Given the description of an element on the screen output the (x, y) to click on. 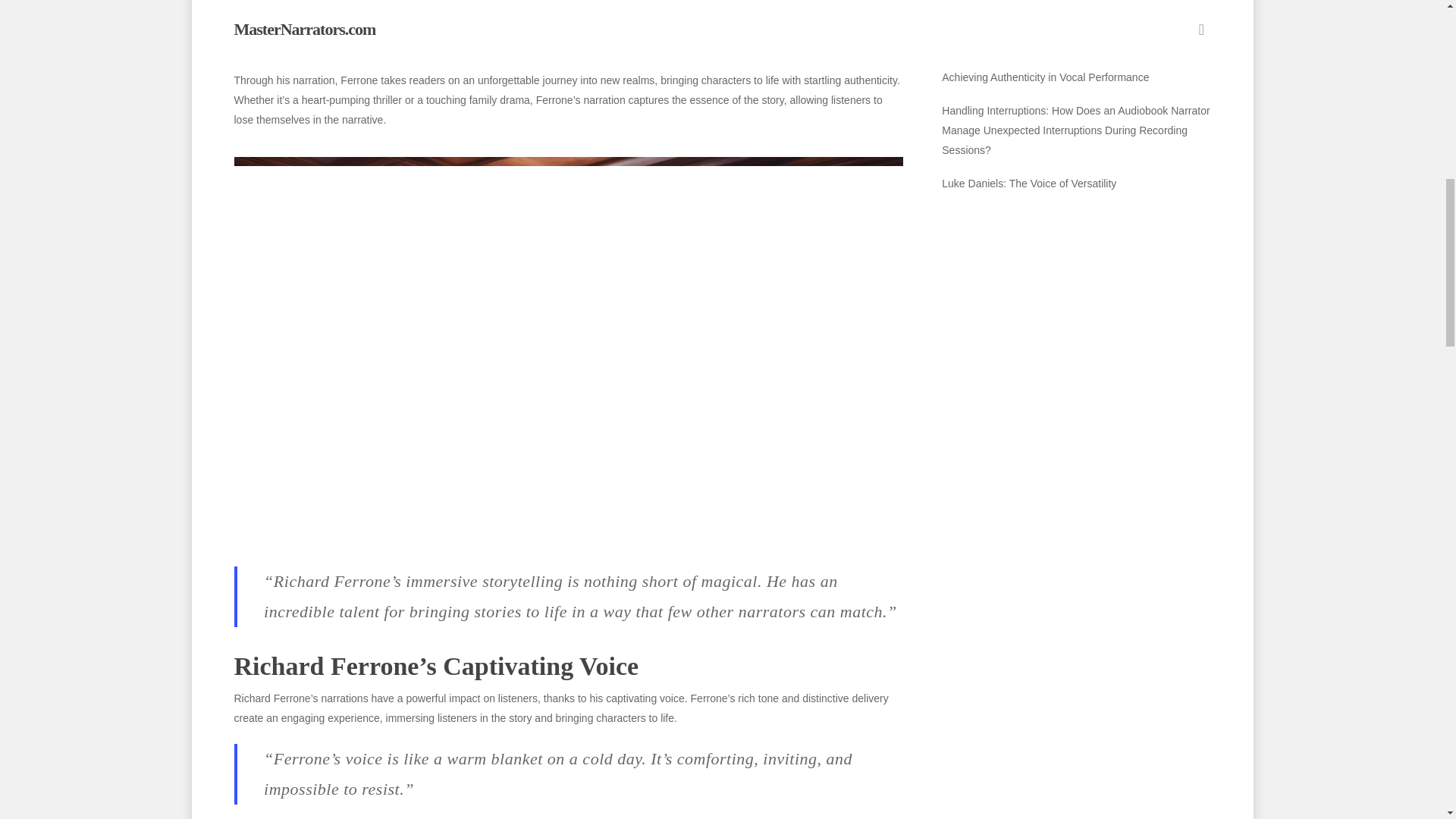
Luke Daniels: The Voice of Versatility (1075, 183)
Achieving Authenticity in Vocal Performance (1075, 76)
